Given the description of an element on the screen output the (x, y) to click on. 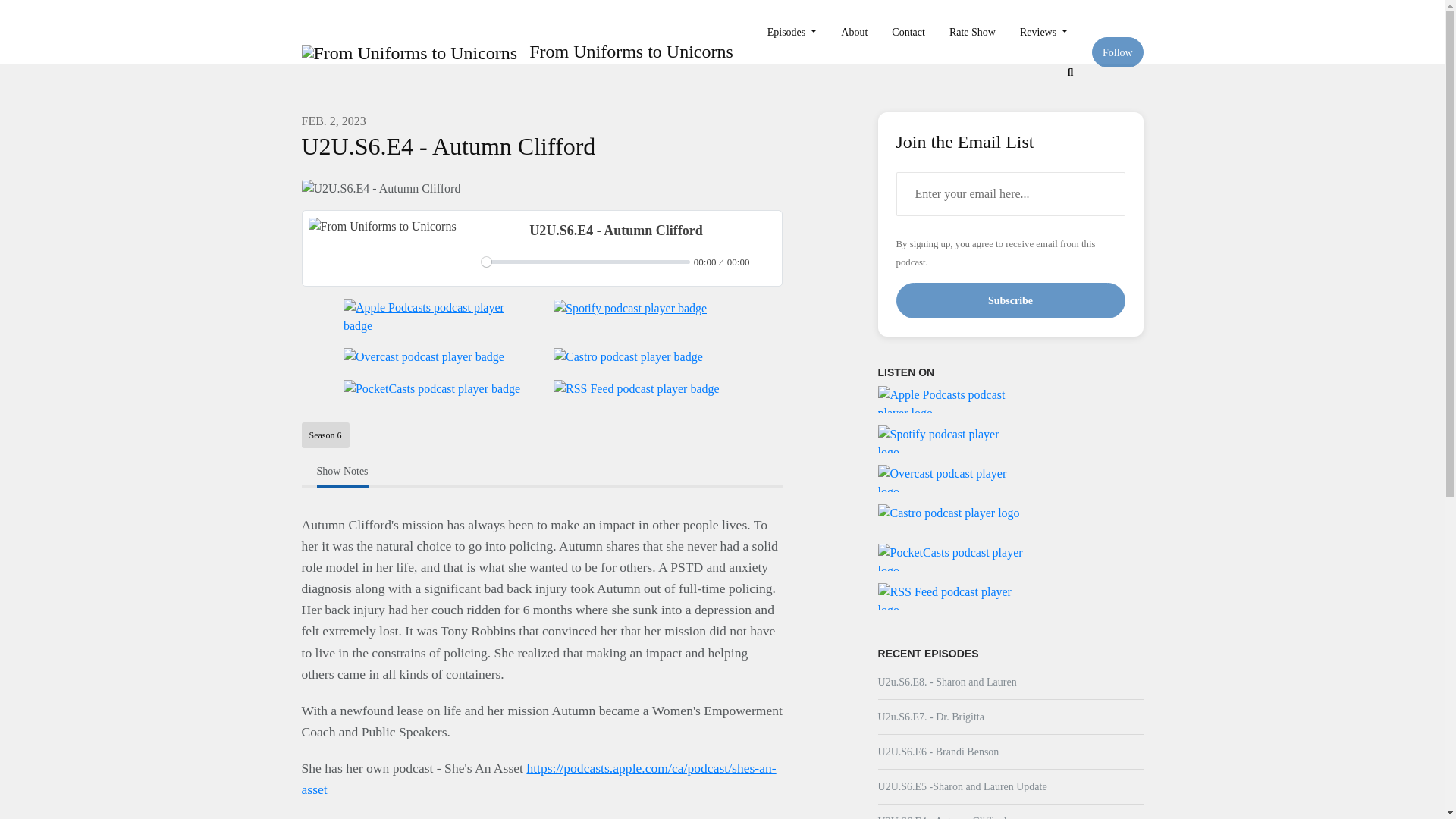
Contact (908, 32)
0 (585, 261)
From Uniforms to Unicorns (409, 52)
Reviews (1043, 32)
Rate Show (972, 32)
Episodes (792, 32)
From Uniforms to Unicorns (381, 247)
About (853, 32)
From Uniforms to Unicorns (514, 52)
U2U.S6.E4 - Autumn Clifford (381, 188)
